Given the description of an element on the screen output the (x, y) to click on. 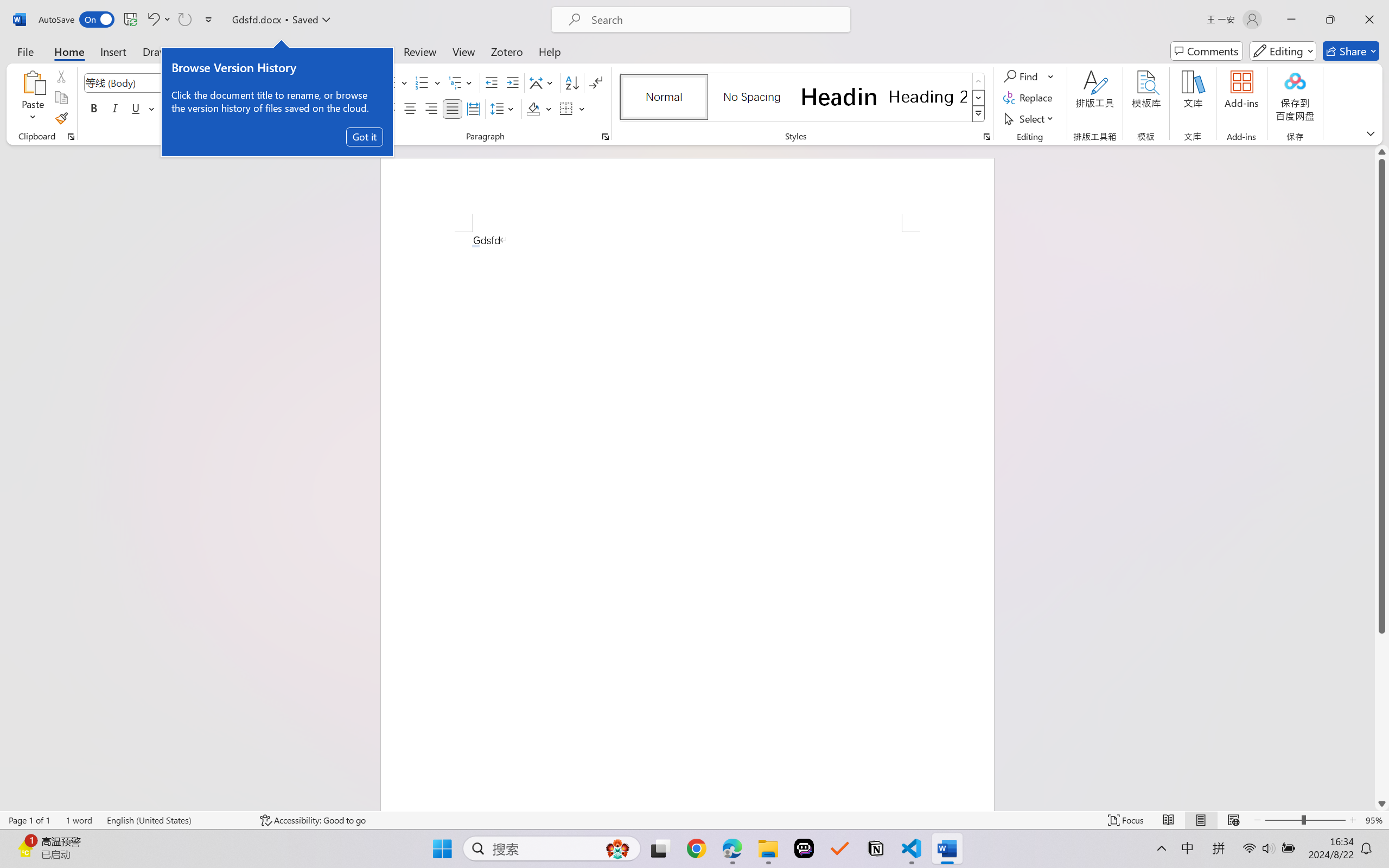
Select (1030, 118)
Shrink Font (253, 82)
Line and Paragraph Spacing (503, 108)
Align Left (388, 108)
Action: Undo Auto Actions (475, 245)
Paragraph... (605, 136)
Show/Hide Editing Marks (595, 82)
Copy (60, 97)
Line down (1382, 803)
Increase Indent (512, 82)
